Given the description of an element on the screen output the (x, y) to click on. 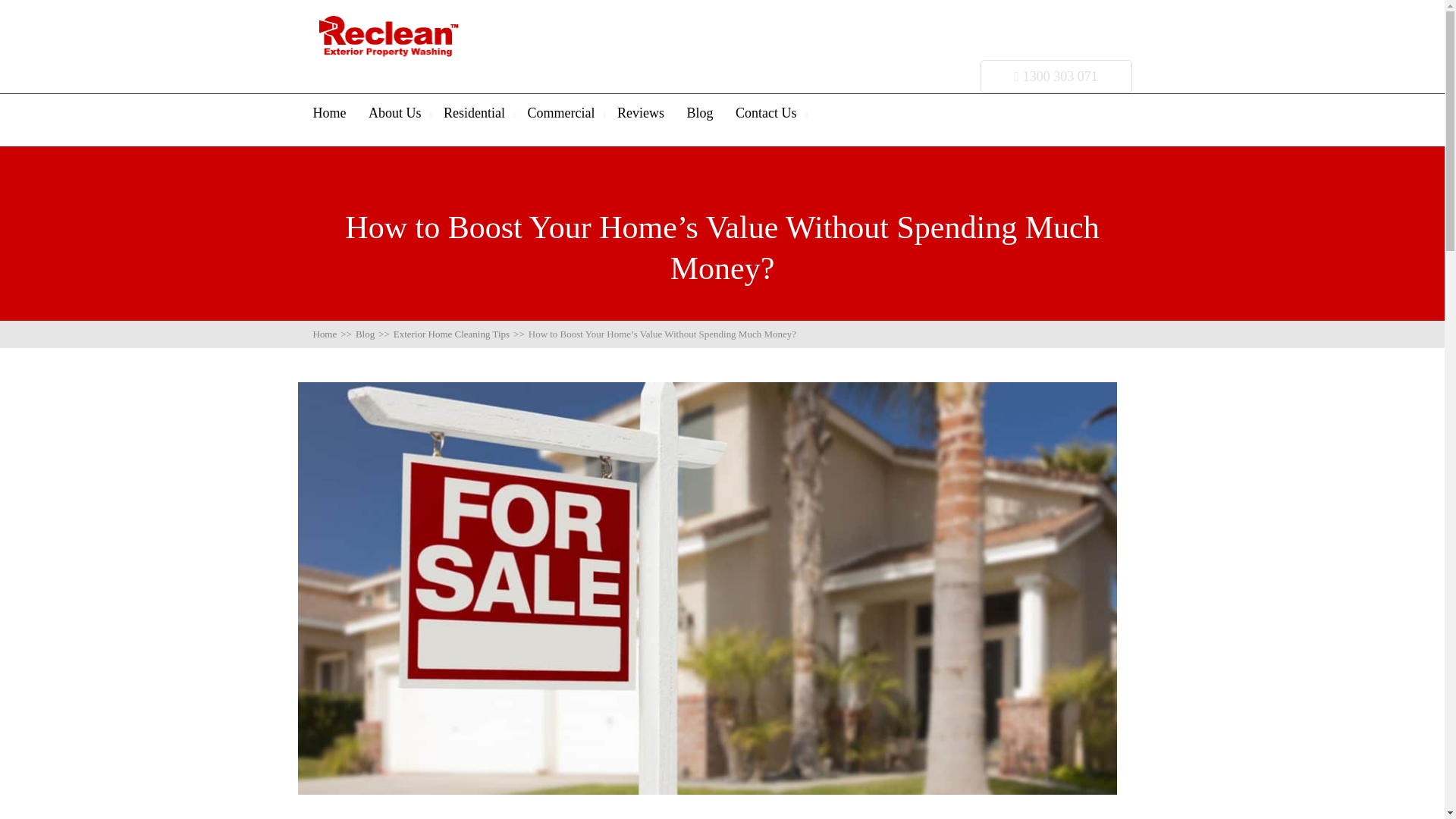
Residential (474, 113)
About Us (395, 113)
Contact Us (765, 113)
1300 303 071 (1055, 76)
Blog (699, 113)
Home (329, 113)
Reviews (640, 113)
Commercial (561, 113)
